Given the description of an element on the screen output the (x, y) to click on. 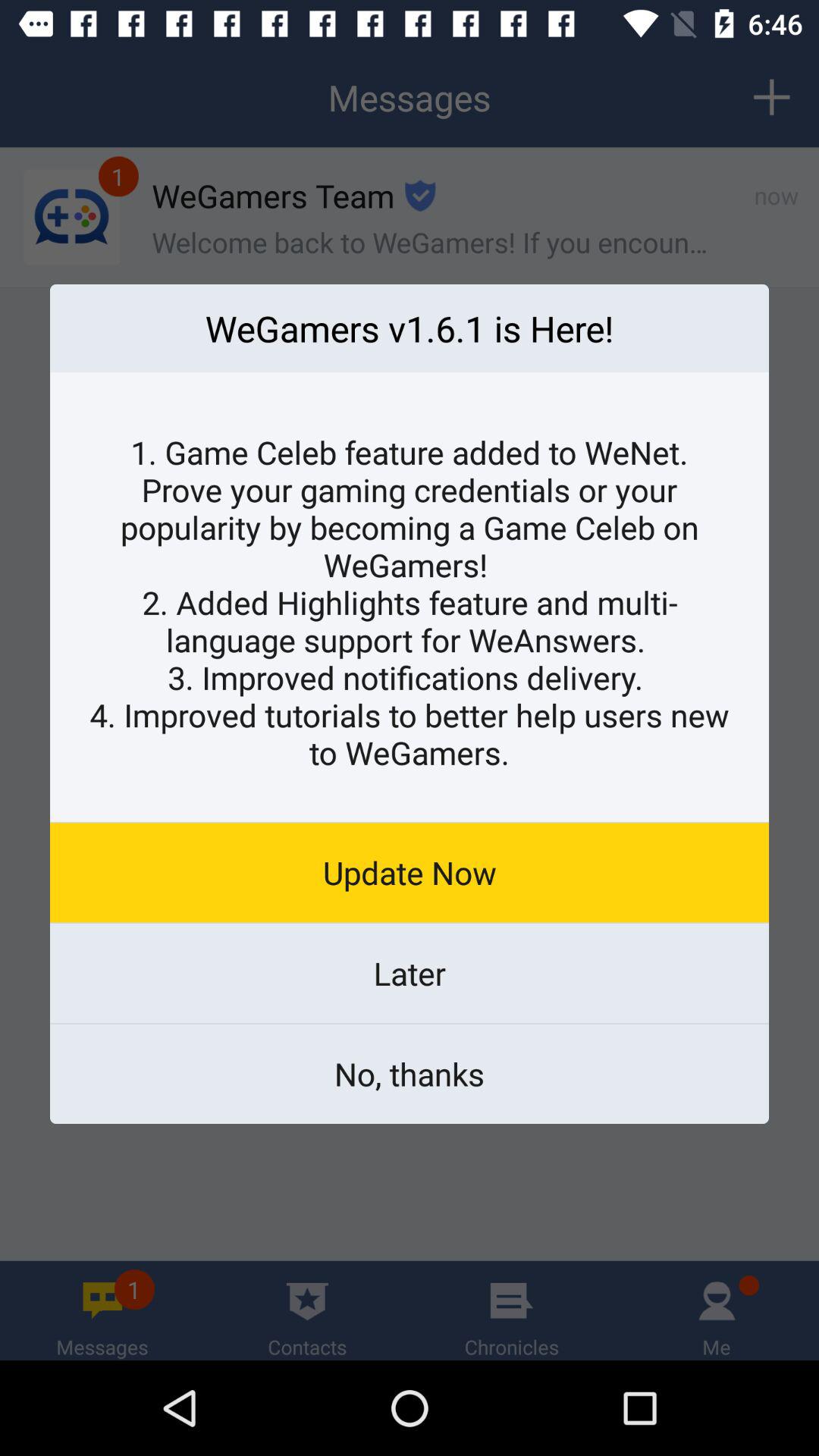
click the later icon (409, 973)
